Given the description of an element on the screen output the (x, y) to click on. 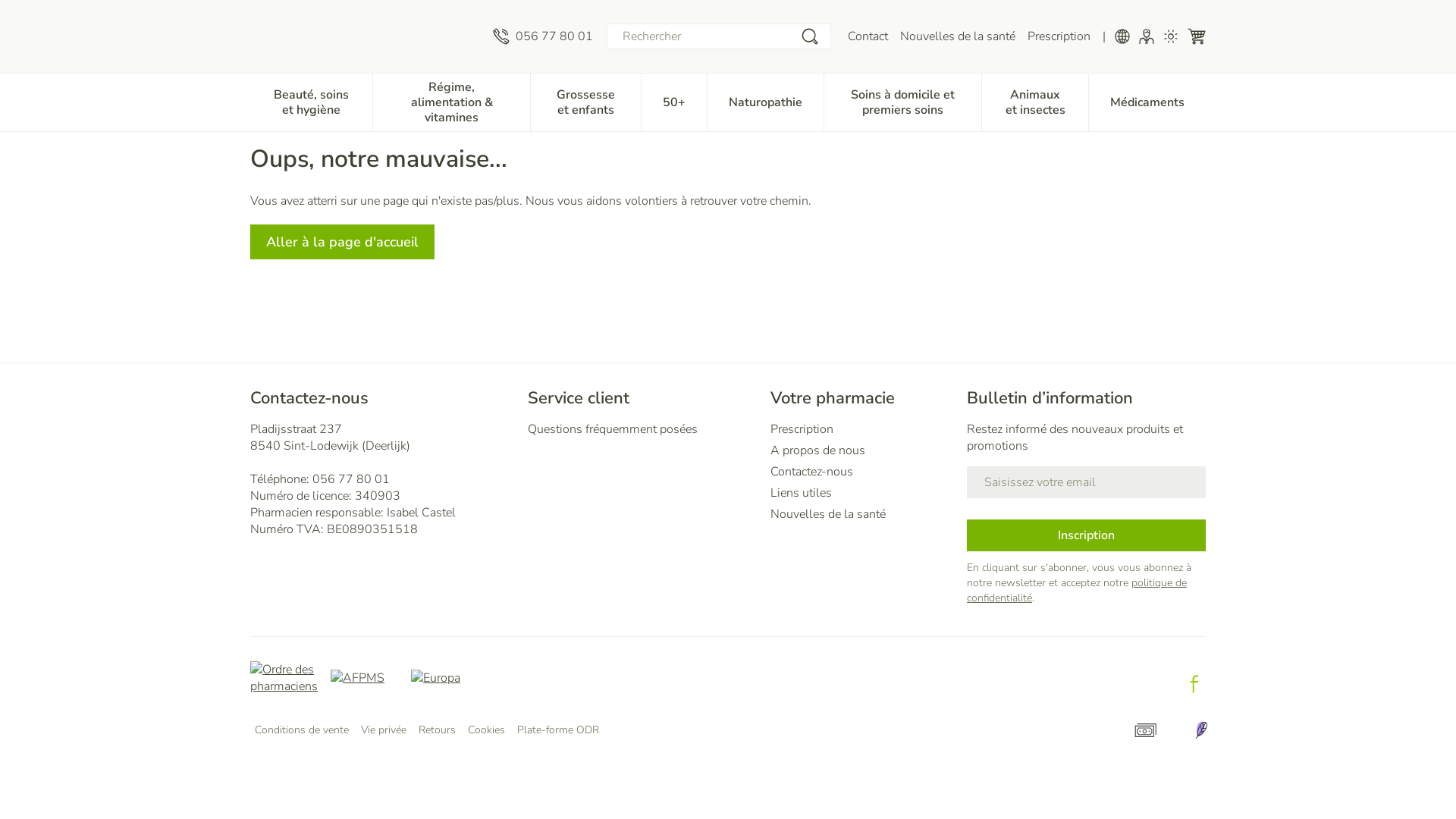
Apotheek Sint-Lodewijk Element type: hover (365, 36)
Plate-forme ODR Element type: text (558, 729)
Naturopathie Element type: text (765, 100)
Cookies Element type: text (486, 729)
Retours Element type: text (436, 729)
Liens utiles Element type: text (862, 492)
Facebook Element type: hover (1194, 683)
Grossesse et enfants Element type: text (585, 100)
50+ Element type: text (673, 100)
056 77 80 01 Element type: text (350, 478)
Prescription Element type: text (862, 428)
Animaux et insectes Element type: text (1035, 100)
Contact Element type: text (867, 36)
Prescription Element type: text (1058, 36)
Rechercher Element type: text (809, 36)
Contactez-nous Element type: text (862, 471)
Conditions de vente Element type: text (301, 729)
Panier Element type: text (1196, 36)
Mode lumineux Element type: text (1170, 35)
A propos de nous Element type: text (862, 450)
Inscription Element type: text (1085, 535)
056 77 80 01 Element type: text (542, 36)
Menu client Element type: text (1146, 35)
Langues Element type: text (1121, 35)
